Given the description of an element on the screen output the (x, y) to click on. 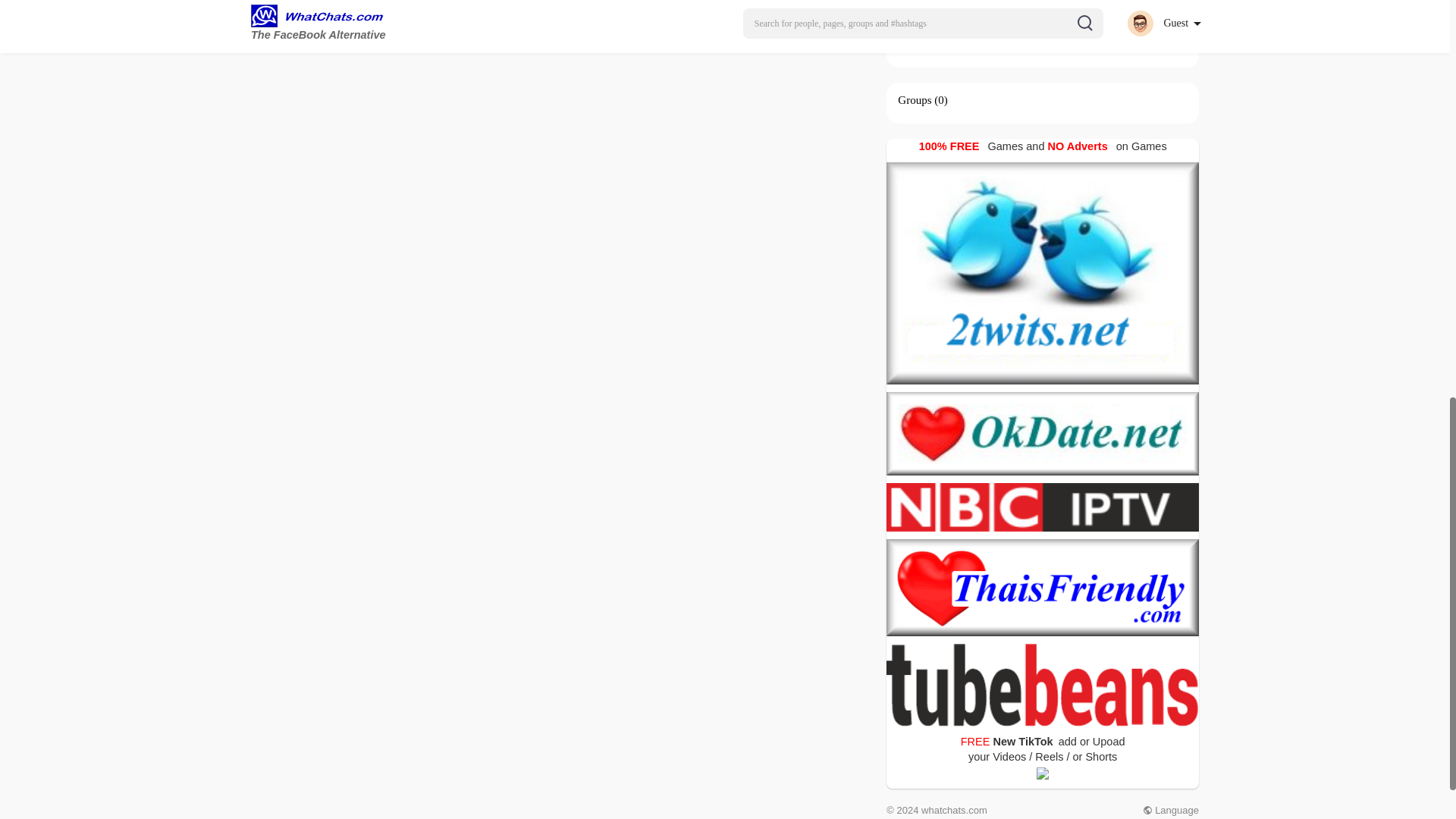
Likes (910, 43)
Groups (914, 100)
Language (1170, 809)
